Given the description of an element on the screen output the (x, y) to click on. 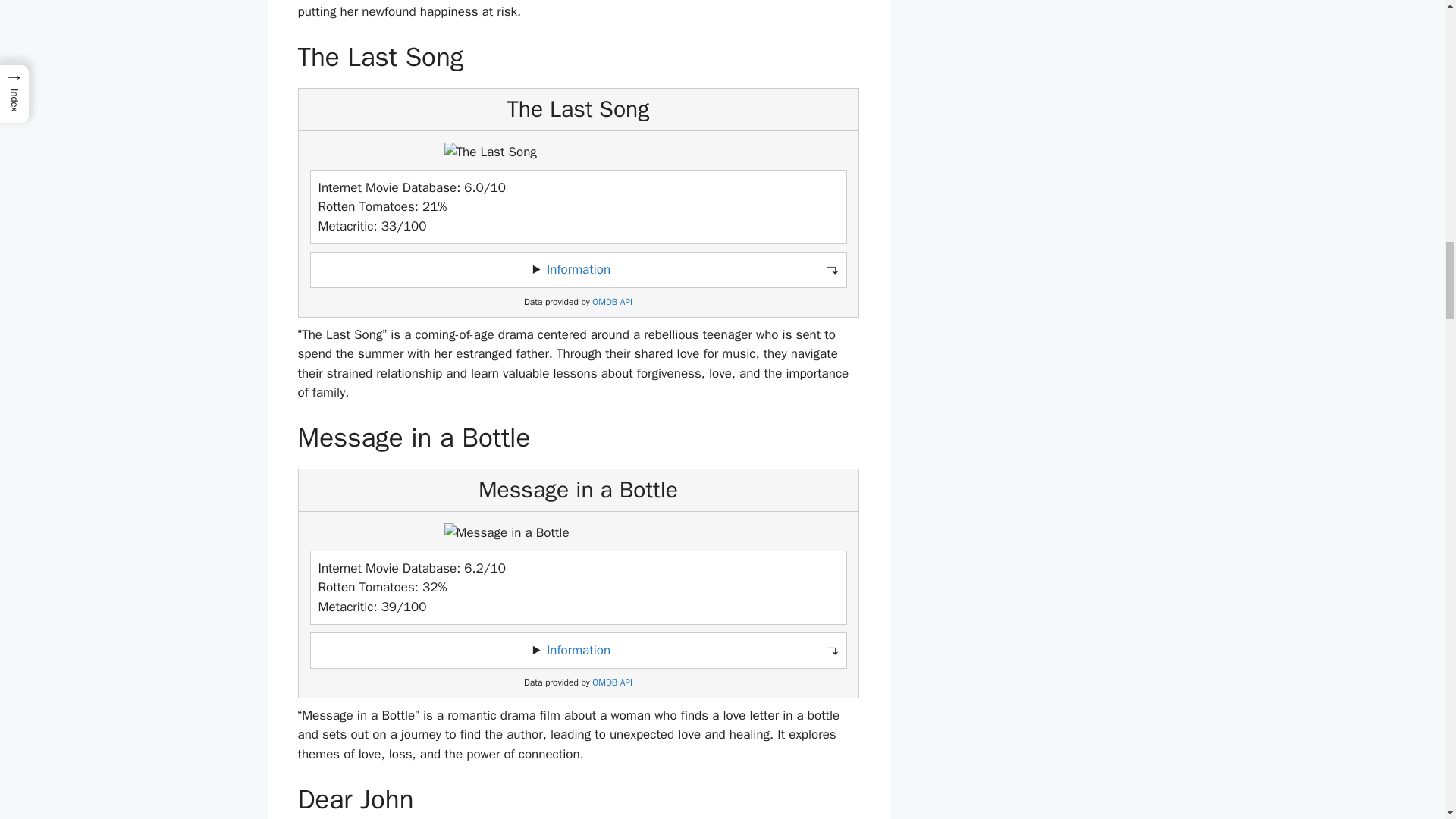
Information (578, 269)
OMDB API (611, 682)
Toggle information (578, 269)
Information (578, 650)
OMDB API (611, 301)
Open Movie Database API (611, 301)
